Given the description of an element on the screen output the (x, y) to click on. 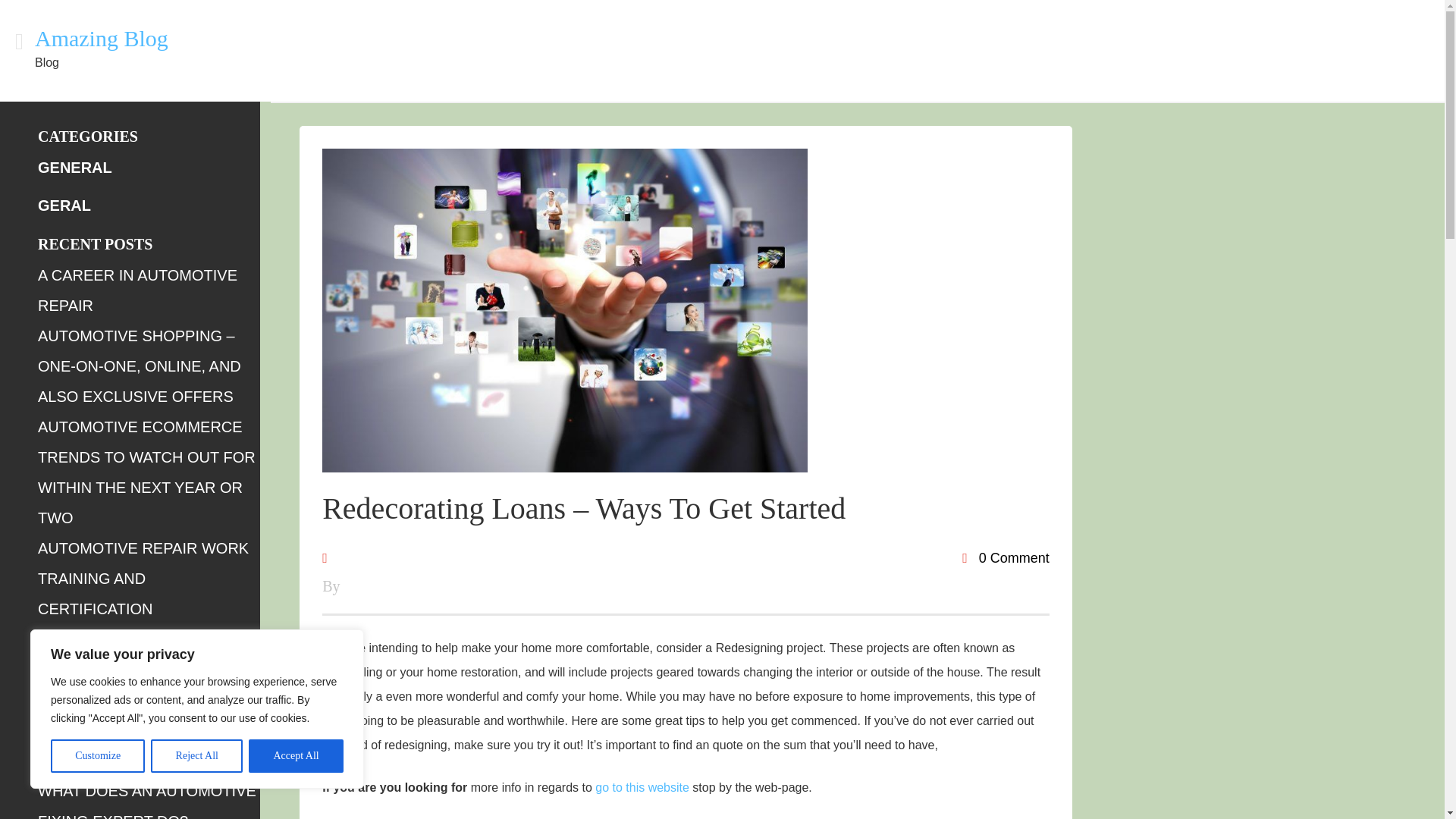
Customize (97, 756)
GENERAL (74, 167)
Reject All (197, 756)
0 Comment (1005, 557)
Amazing Blog (101, 37)
go to this website (641, 787)
Accept All (295, 756)
